Given the description of an element on the screen output the (x, y) to click on. 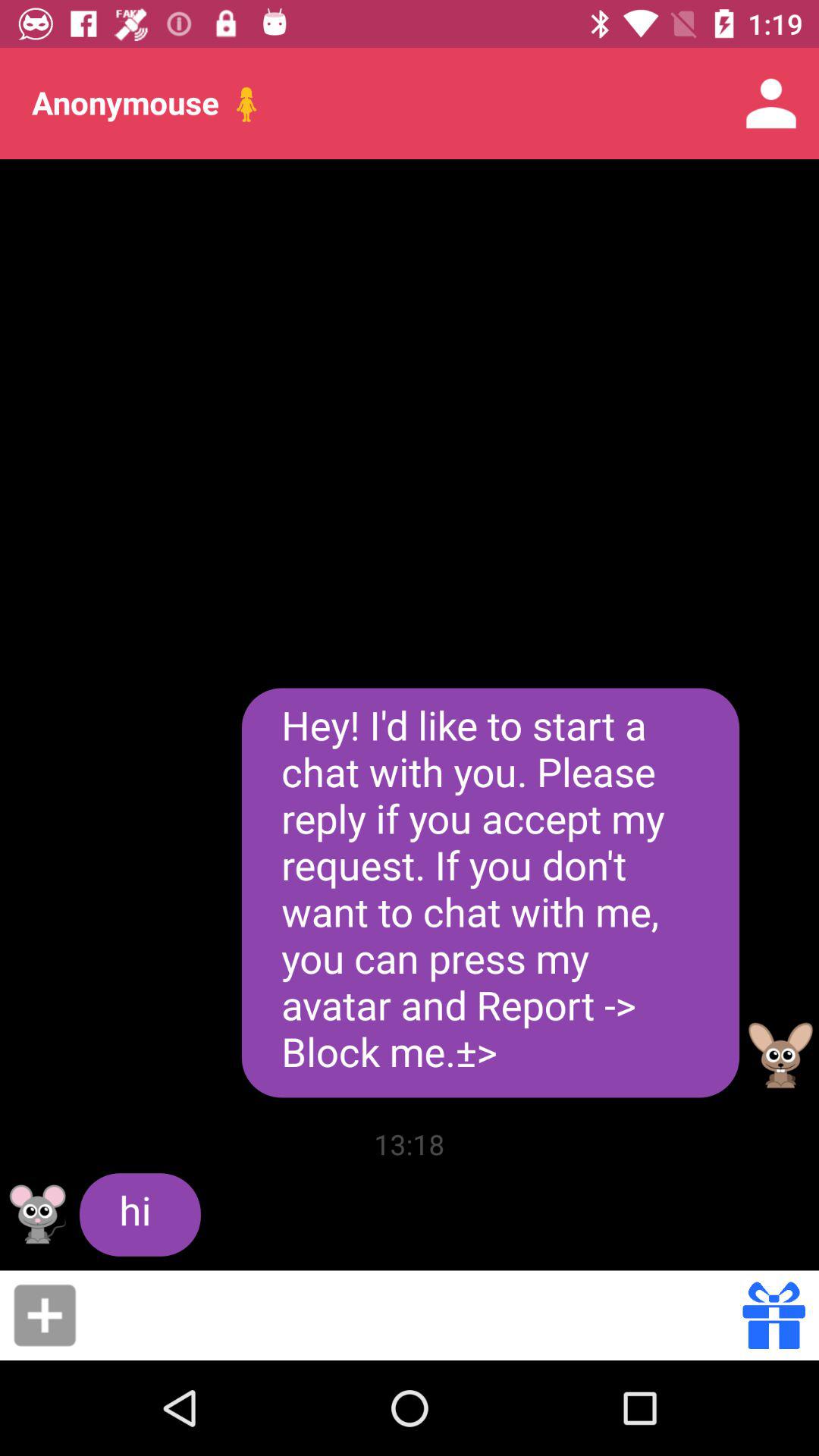
turn off the item below hi  icon (44, 1315)
